Given the description of an element on the screen output the (x, y) to click on. 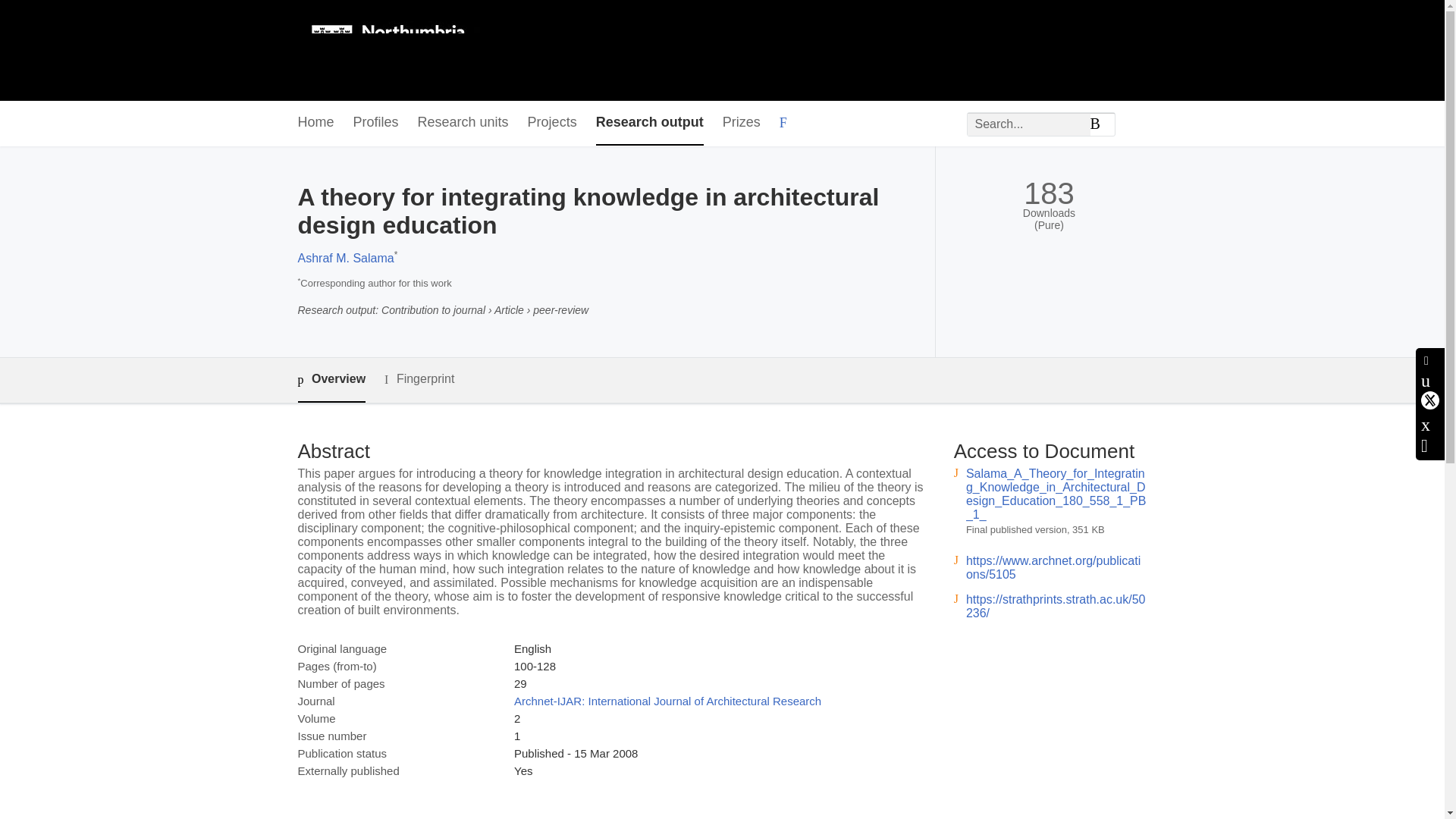
Northumbria University Research Portal Home (398, 50)
Research units (462, 122)
Projects (551, 122)
Overview (331, 379)
Research output (649, 122)
Profiles (375, 122)
Fingerprint (419, 379)
Ashraf M. Salama (345, 257)
